Given the description of an element on the screen output the (x, y) to click on. 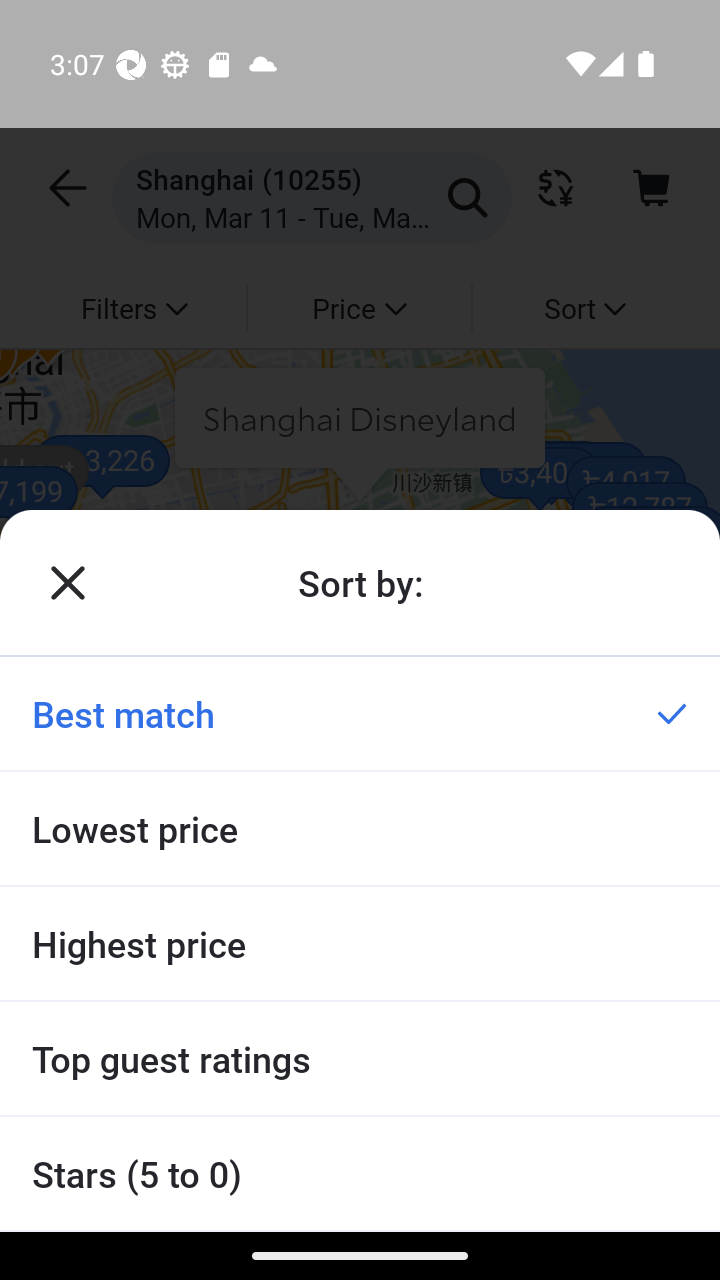
Best match (360, 713)
Lowest price (360, 827)
Highest price (360, 943)
Top guest ratings (360, 1058)
Stars (5 to 0) (360, 1173)
